Given the description of an element on the screen output the (x, y) to click on. 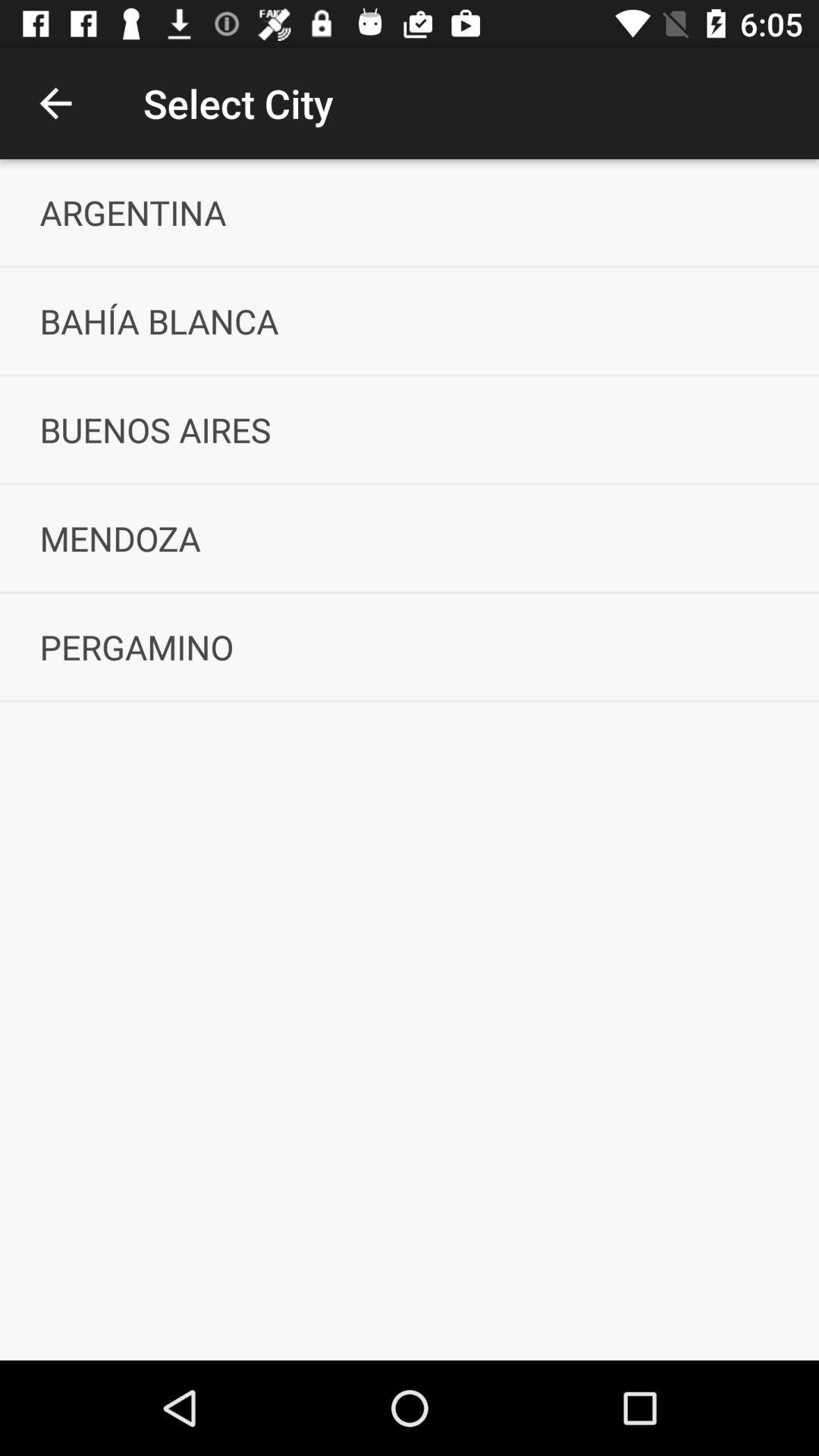
choose the buenos aires item (409, 429)
